Given the description of an element on the screen output the (x, y) to click on. 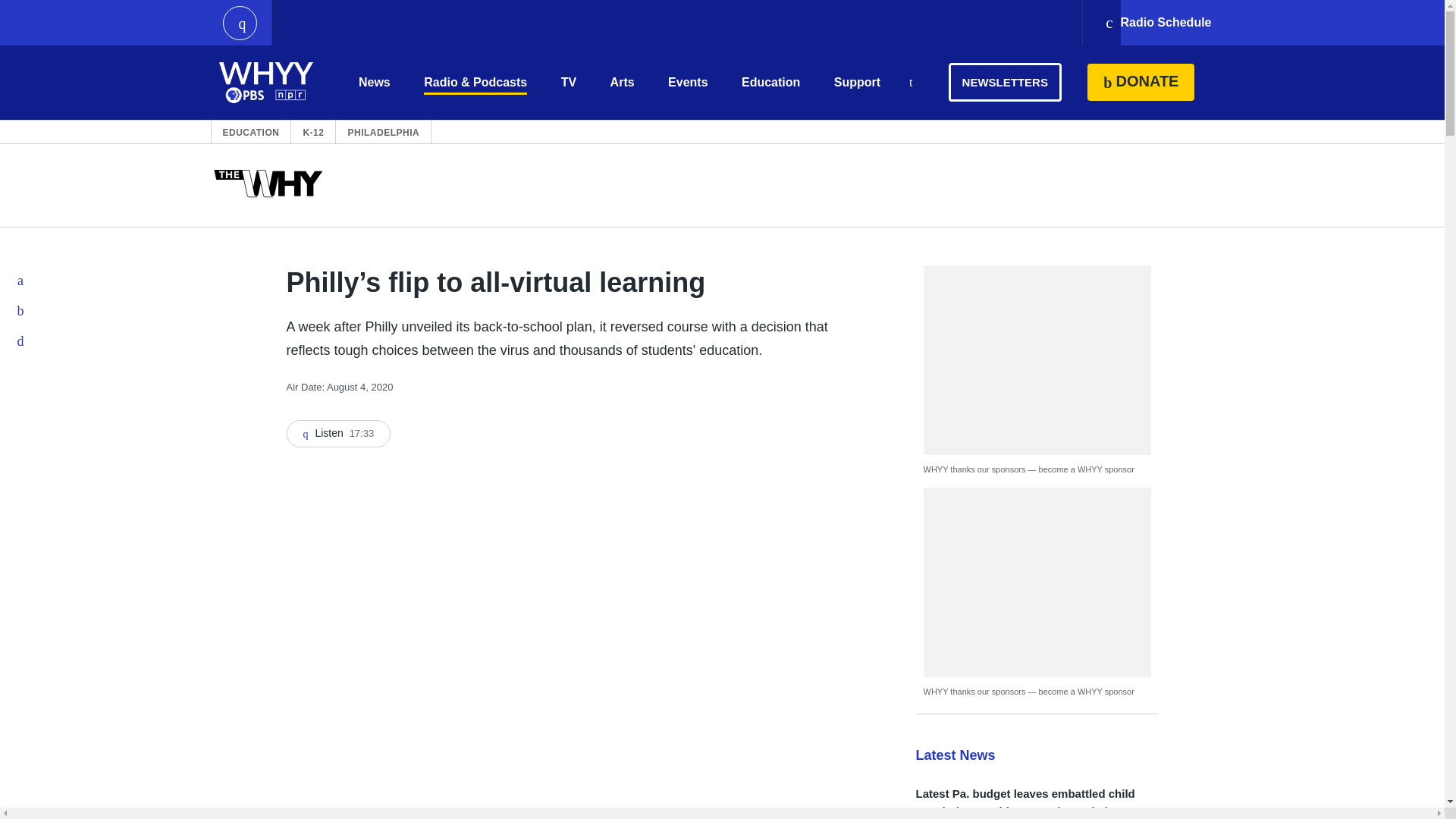
Radio Schedule (1157, 22)
Facebook (21, 280)
PHILADELPHIA (383, 132)
WHYY (266, 82)
Search (910, 83)
K-12 (312, 132)
Twitter (21, 310)
Email (21, 340)
EDUCATION (250, 132)
